Given the description of an element on the screen output the (x, y) to click on. 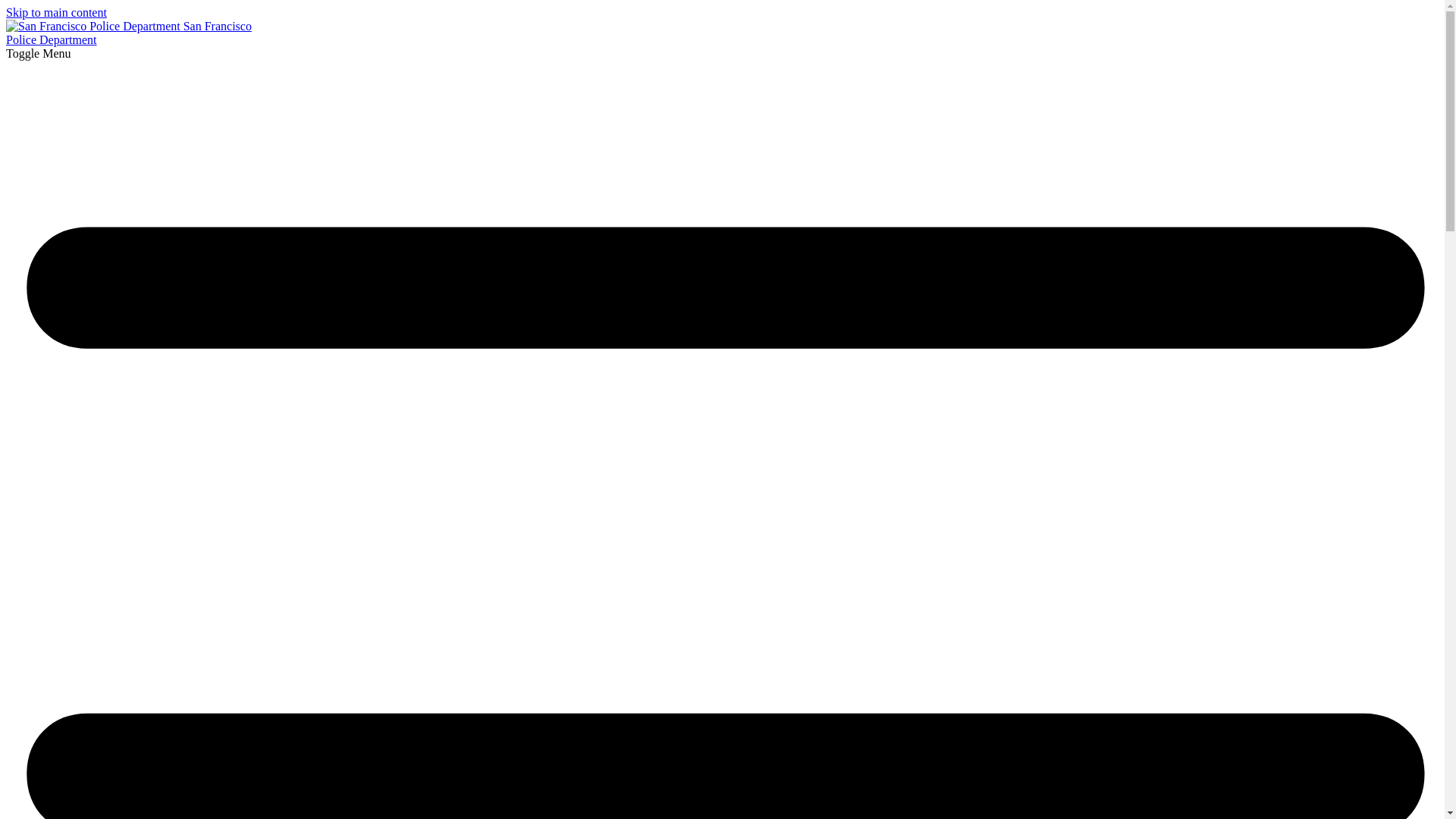
Home (128, 32)
Home (94, 25)
Skip to main content (128, 32)
